Given the description of an element on the screen output the (x, y) to click on. 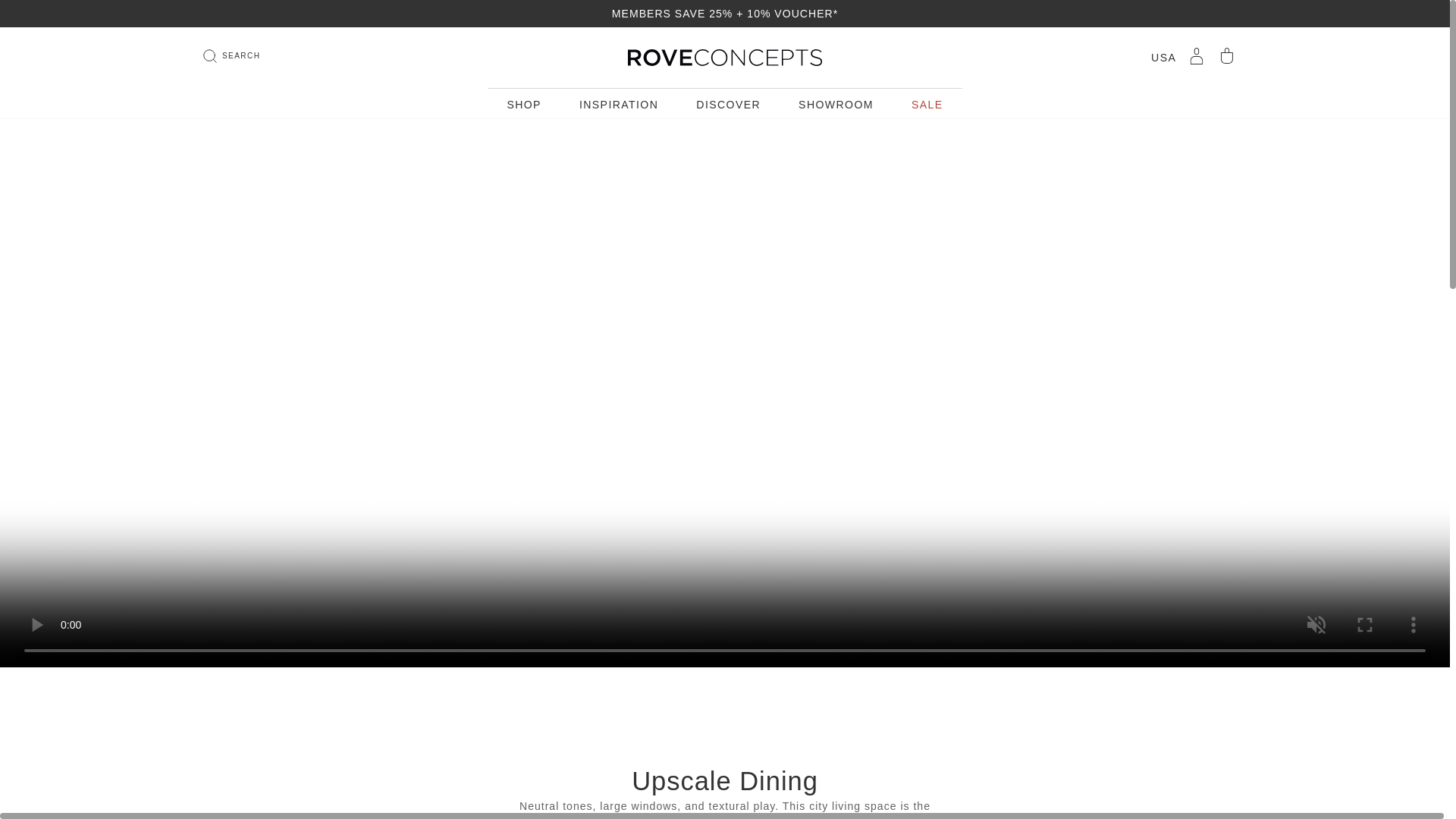
Home - Rove Concepts (724, 57)
Shop our Best Sellers (523, 103)
SHOP (523, 104)
